Given the description of an element on the screen output the (x, y) to click on. 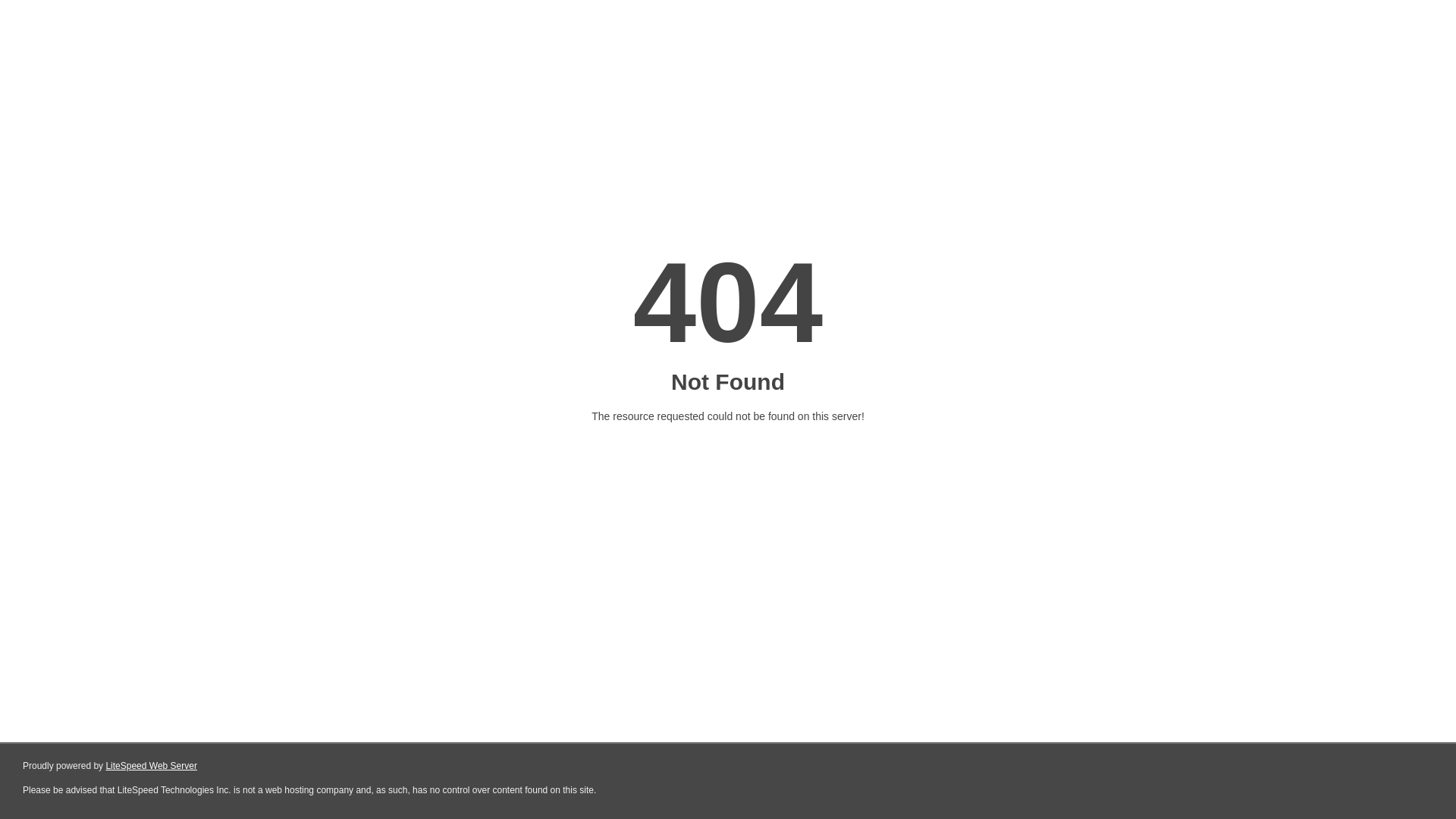
LiteSpeed Web Server Element type: text (151, 765)
